Given the description of an element on the screen output the (x, y) to click on. 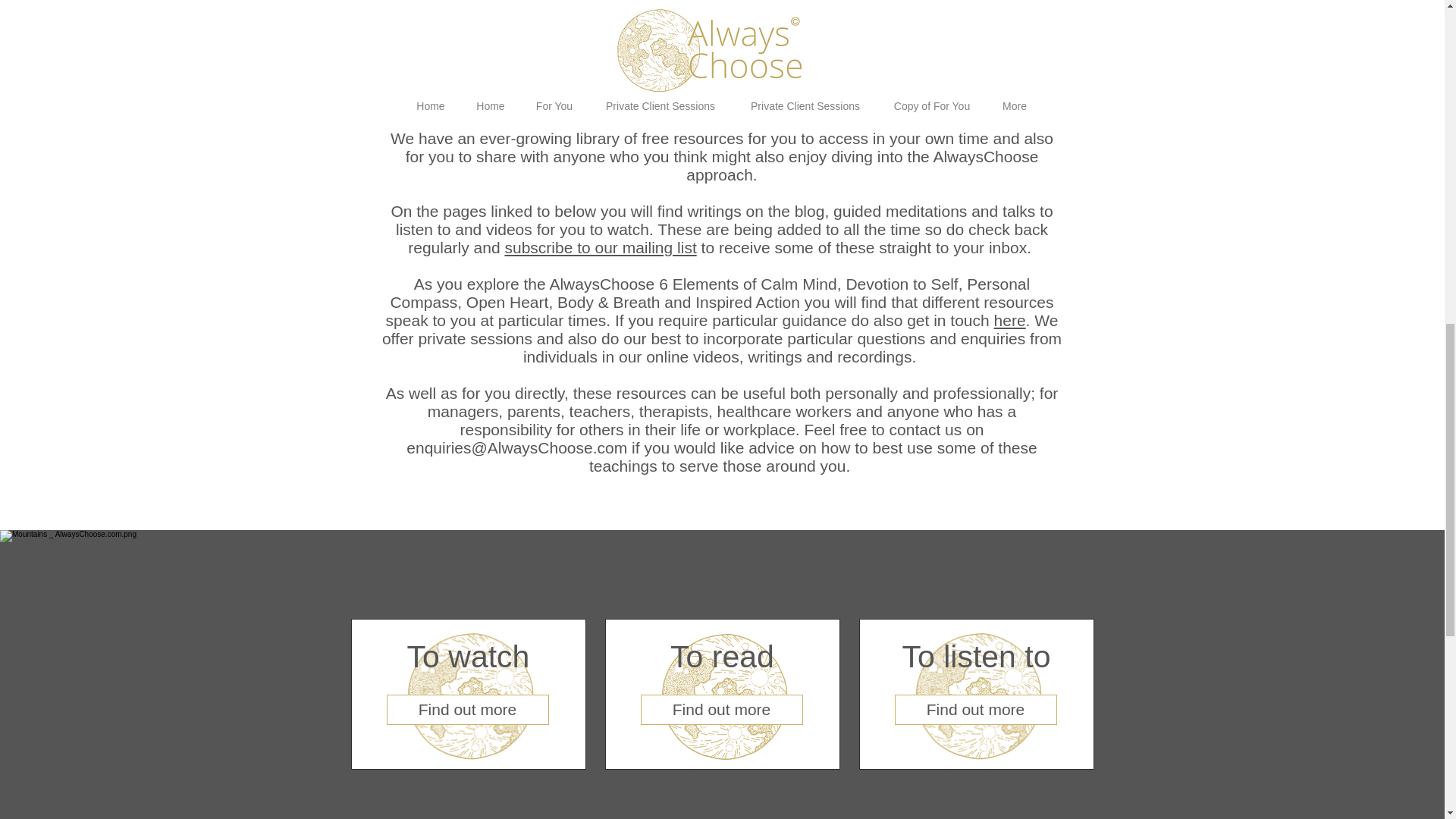
subscribe to our mailing list (599, 247)
Find out more (976, 709)
Find out more (467, 709)
here (1010, 320)
Find out more (721, 709)
